Given the description of an element on the screen output the (x, y) to click on. 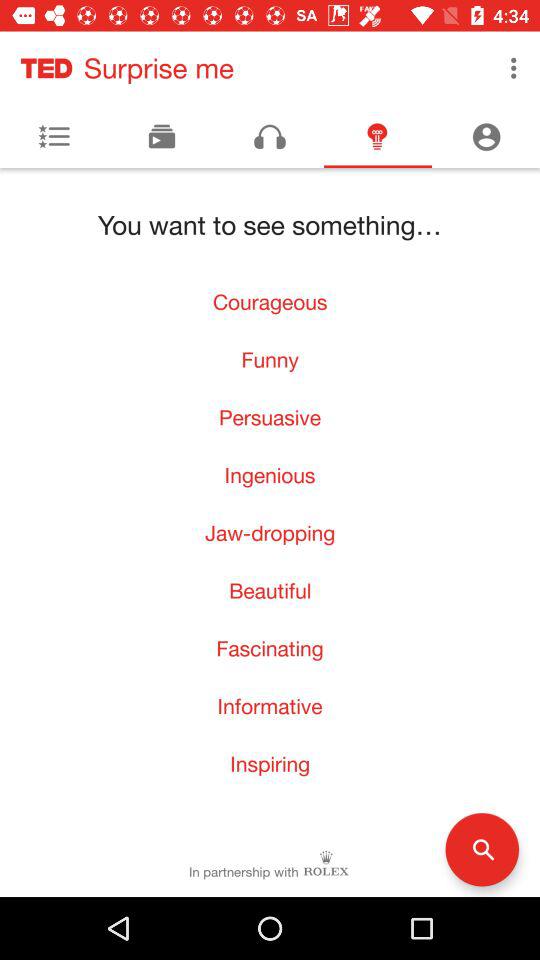
turn off the ingenious item (270, 474)
